Given the description of an element on the screen output the (x, y) to click on. 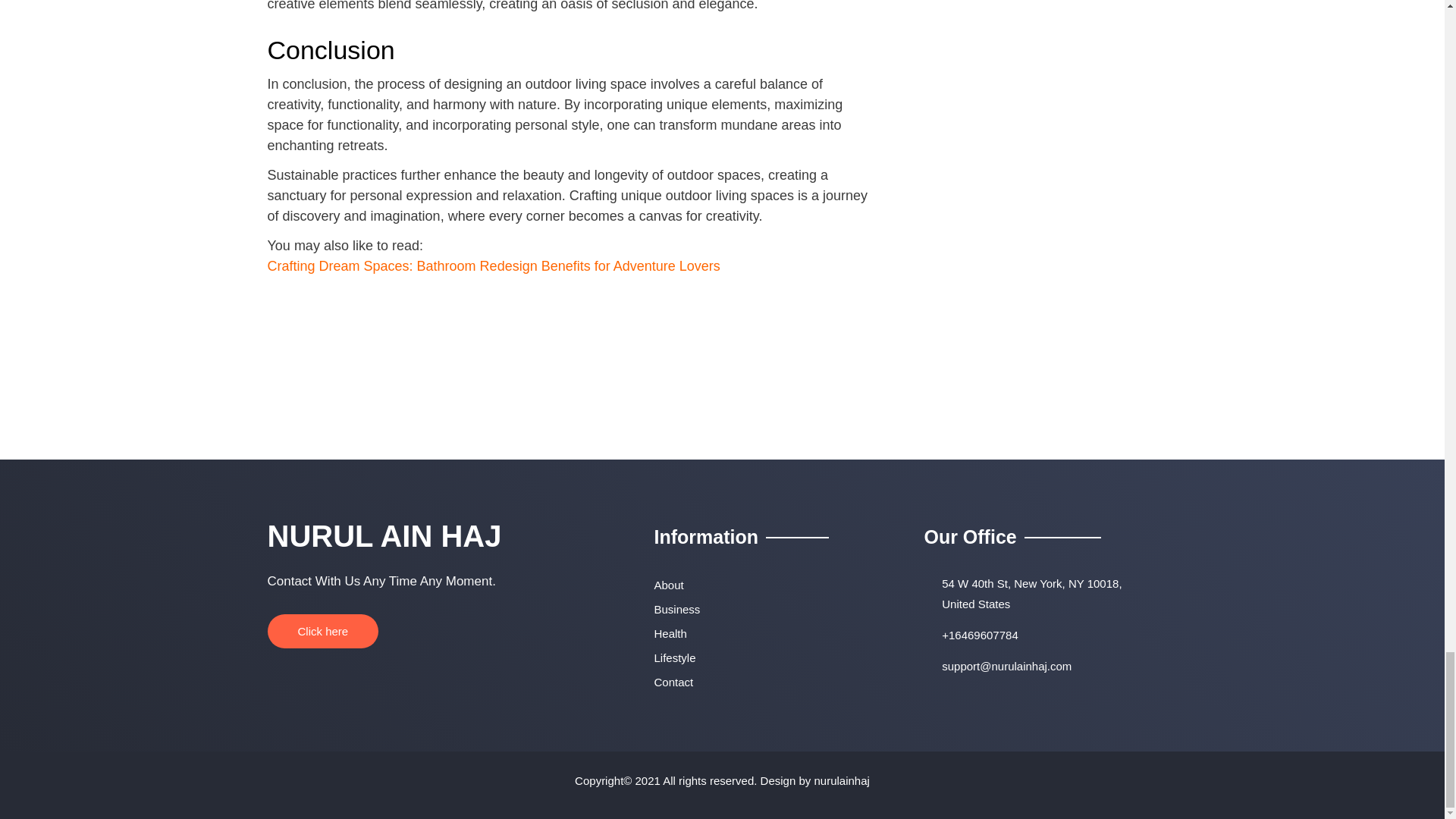
Click here (322, 631)
Business (765, 609)
Health (765, 633)
Lifestyle (765, 658)
NURUL AIN HAJ (383, 535)
About (765, 585)
Contact (765, 682)
